Given the description of an element on the screen output the (x, y) to click on. 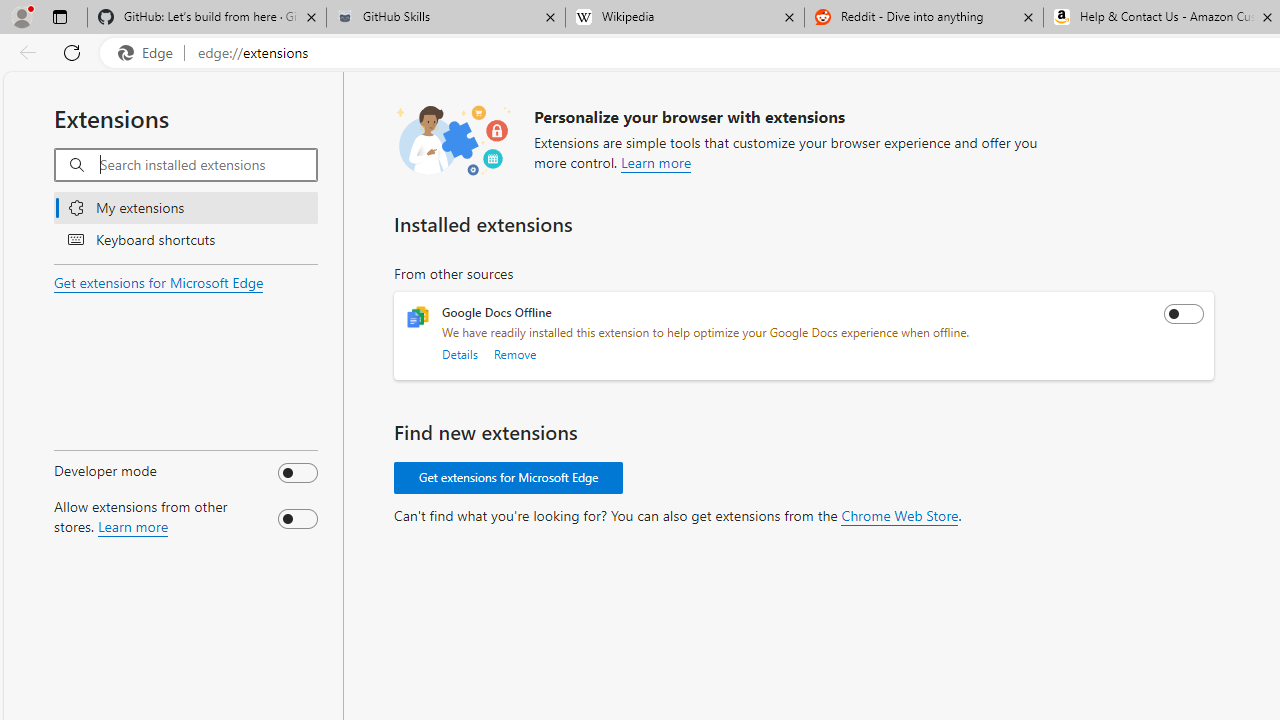
Chrome Web Store (899, 516)
Details (459, 354)
Learn more about allowing extensions from other stores. (132, 526)
Get extensions for Microsoft Edge (509, 477)
Search installed extensions (207, 165)
GitHub Skills (445, 17)
